Given the description of an element on the screen output the (x, y) to click on. 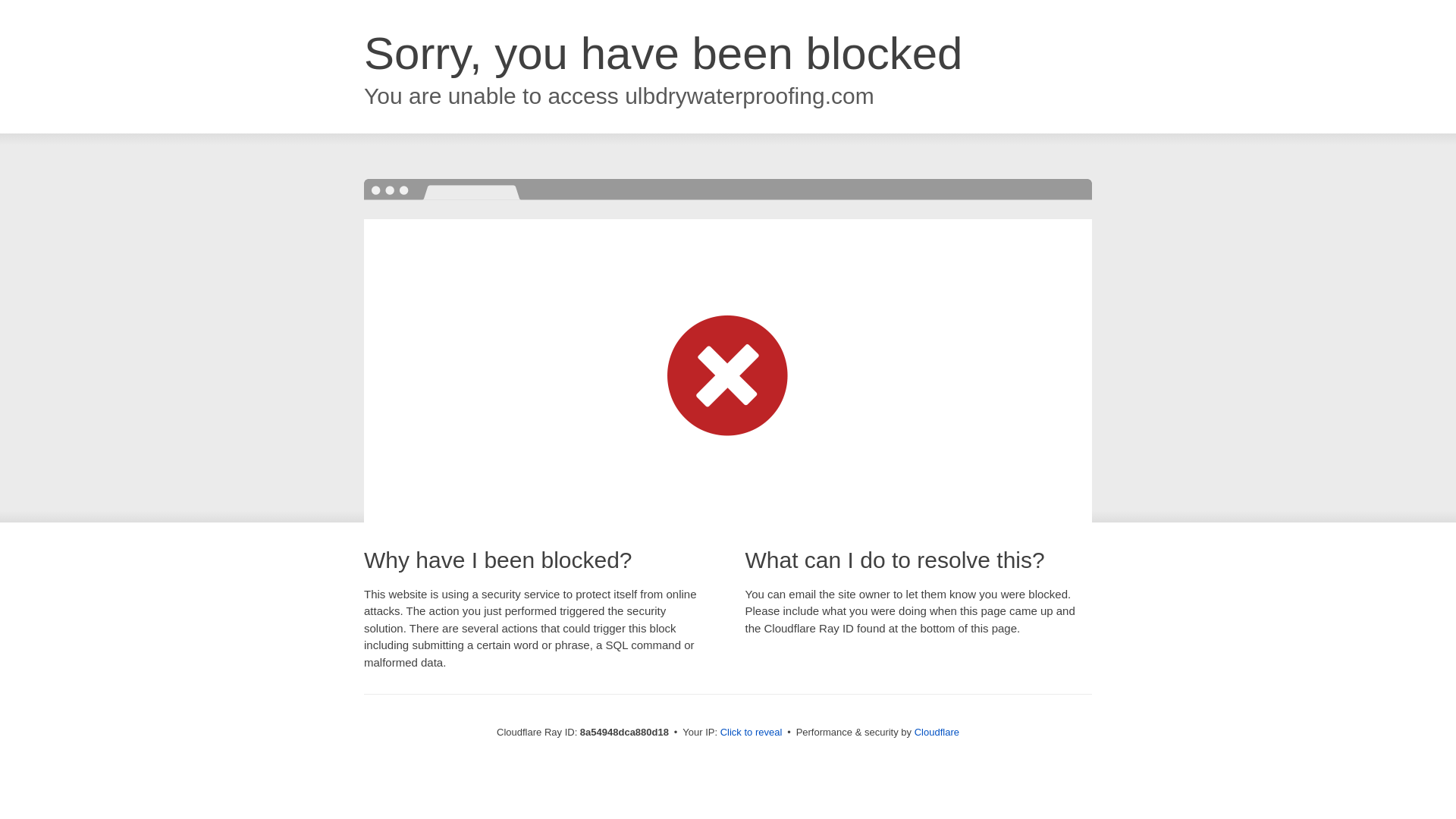
Cloudflare (936, 731)
Click to reveal (751, 732)
